Given the description of an element on the screen output the (x, y) to click on. 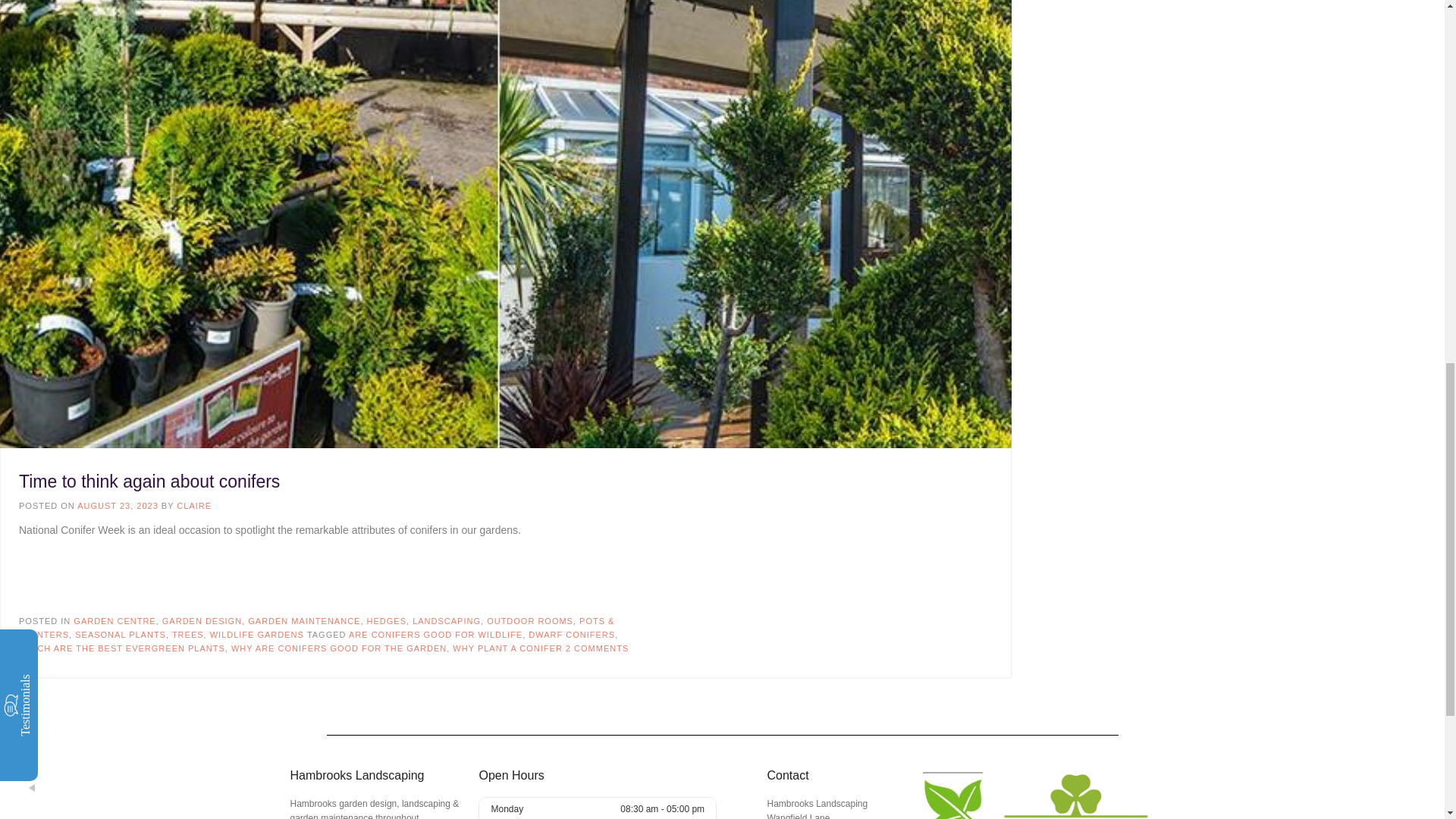
NewAPLPortrait (952, 794)
